Given the description of an element on the screen output the (x, y) to click on. 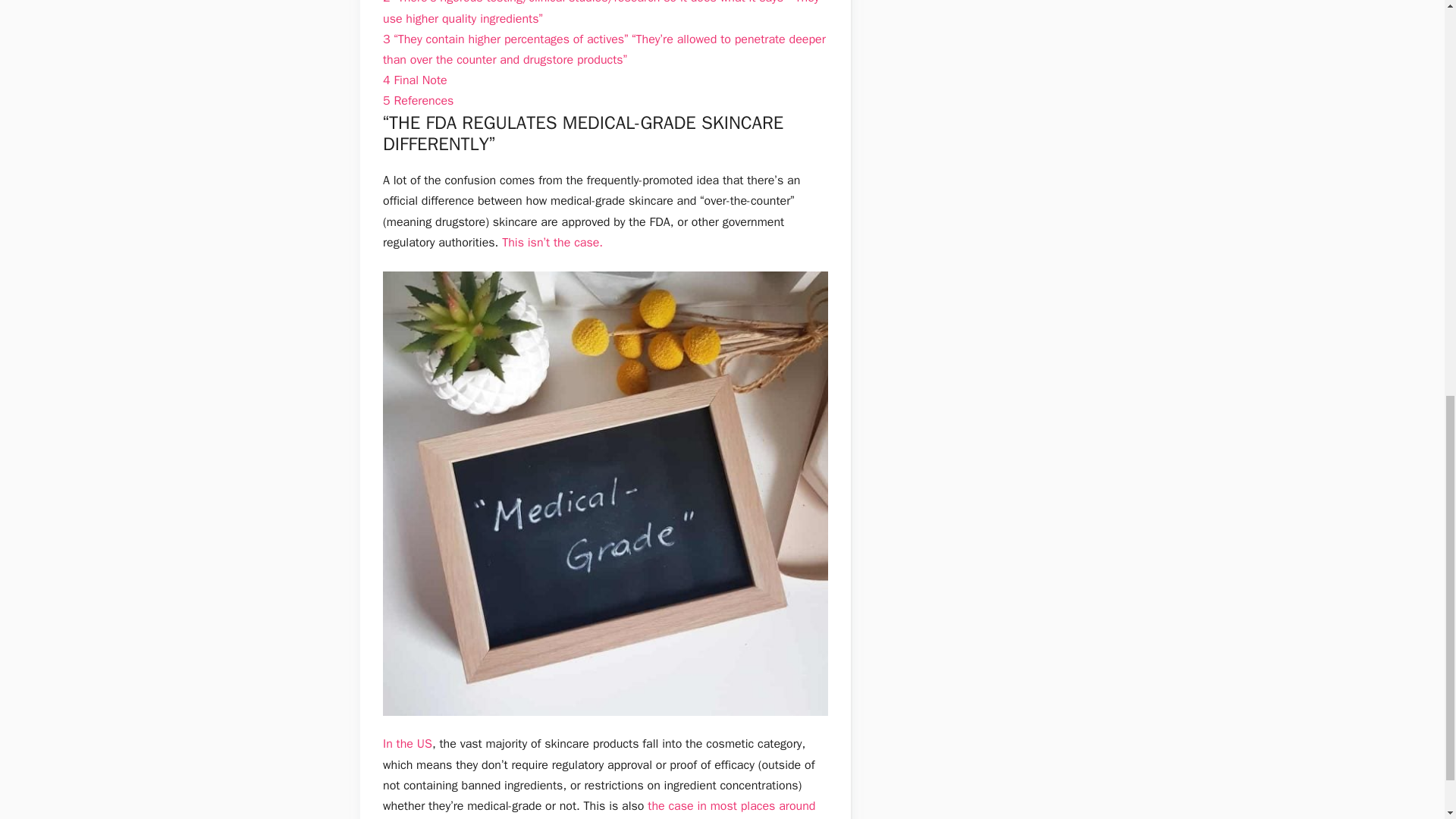
5 References (417, 100)
4 Final Note (414, 79)
around (796, 806)
In the US (407, 743)
most places (743, 806)
the case in (676, 806)
